Given the description of an element on the screen output the (x, y) to click on. 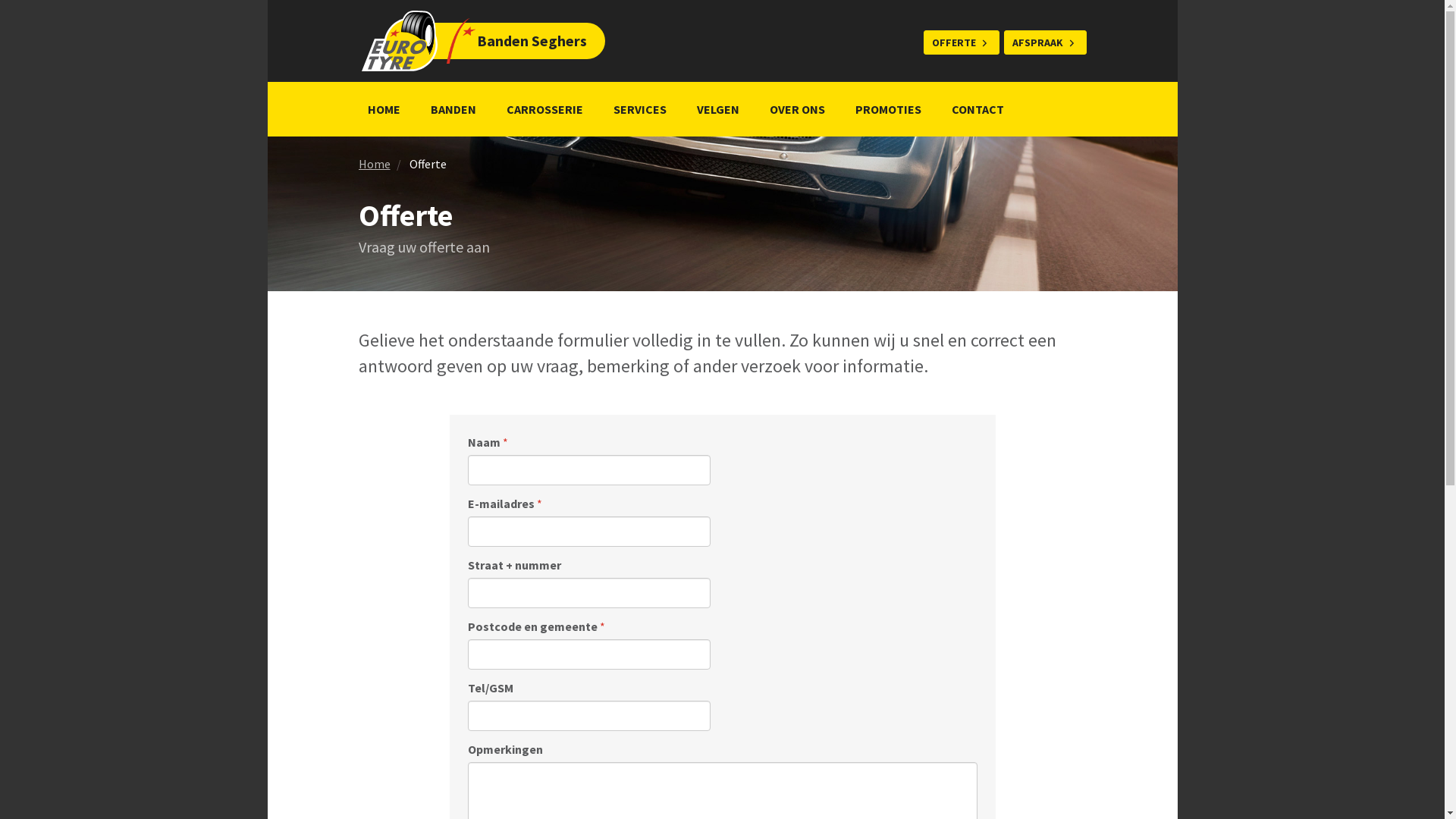
Banden Seghers Element type: text (457, 40)
OFFERTE Element type: text (961, 42)
CONTACT Element type: text (976, 109)
CARROSSERIE Element type: text (544, 109)
OVER ONS Element type: text (796, 109)
AFSPRAAK Element type: text (1045, 42)
BANDEN Element type: text (453, 109)
HOME Element type: text (382, 109)
Home Element type: text (373, 163)
VELGEN Element type: text (717, 109)
PROMOTIES Element type: text (888, 109)
Offerte Element type: text (427, 163)
SERVICES Element type: text (638, 109)
